Given the description of an element on the screen output the (x, y) to click on. 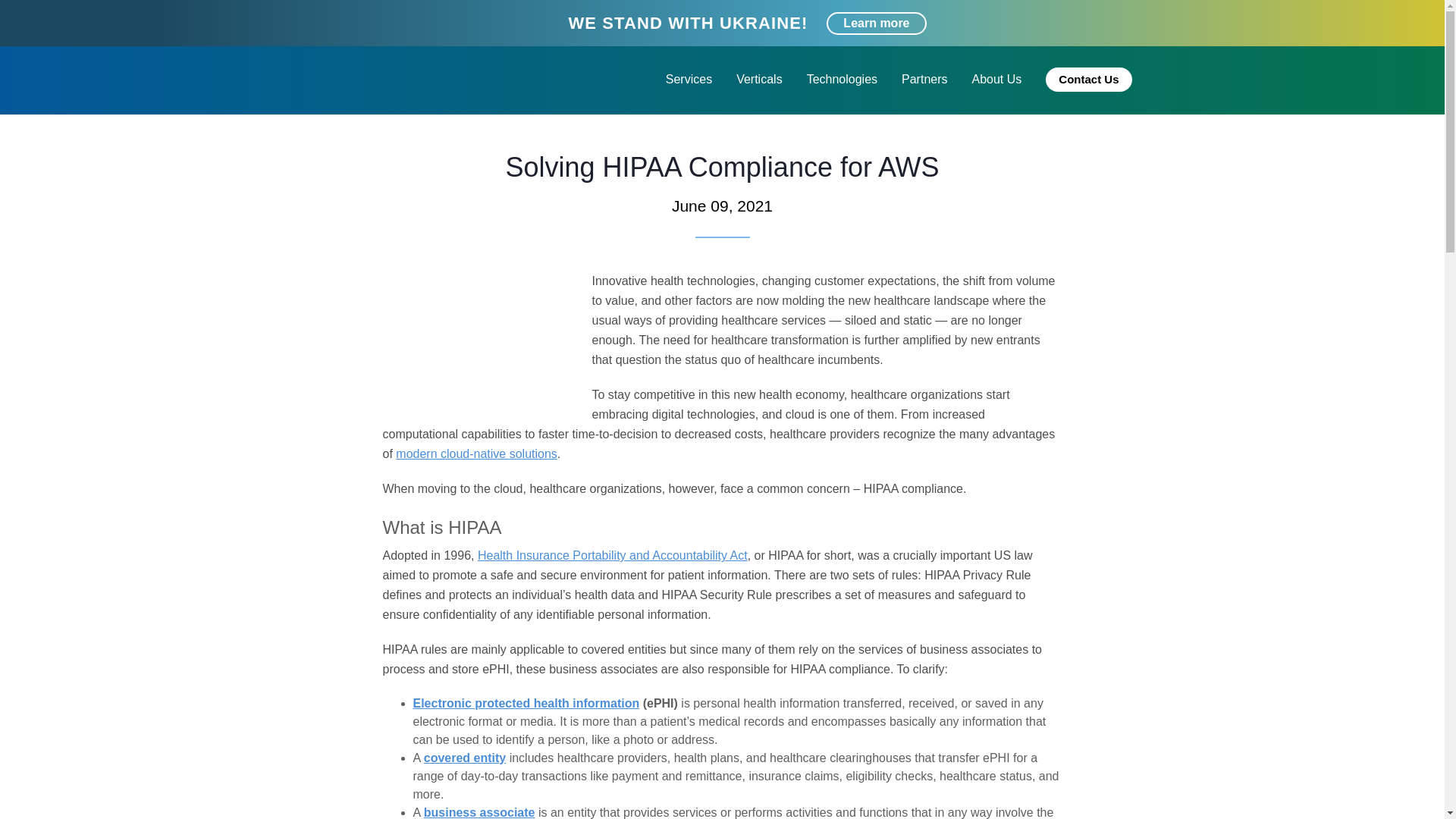
Verticals (758, 79)
Learn more (876, 23)
Home (326, 130)
Technologies (841, 79)
AWS (369, 130)
Services (688, 79)
Learn more (876, 23)
